Given the description of an element on the screen output the (x, y) to click on. 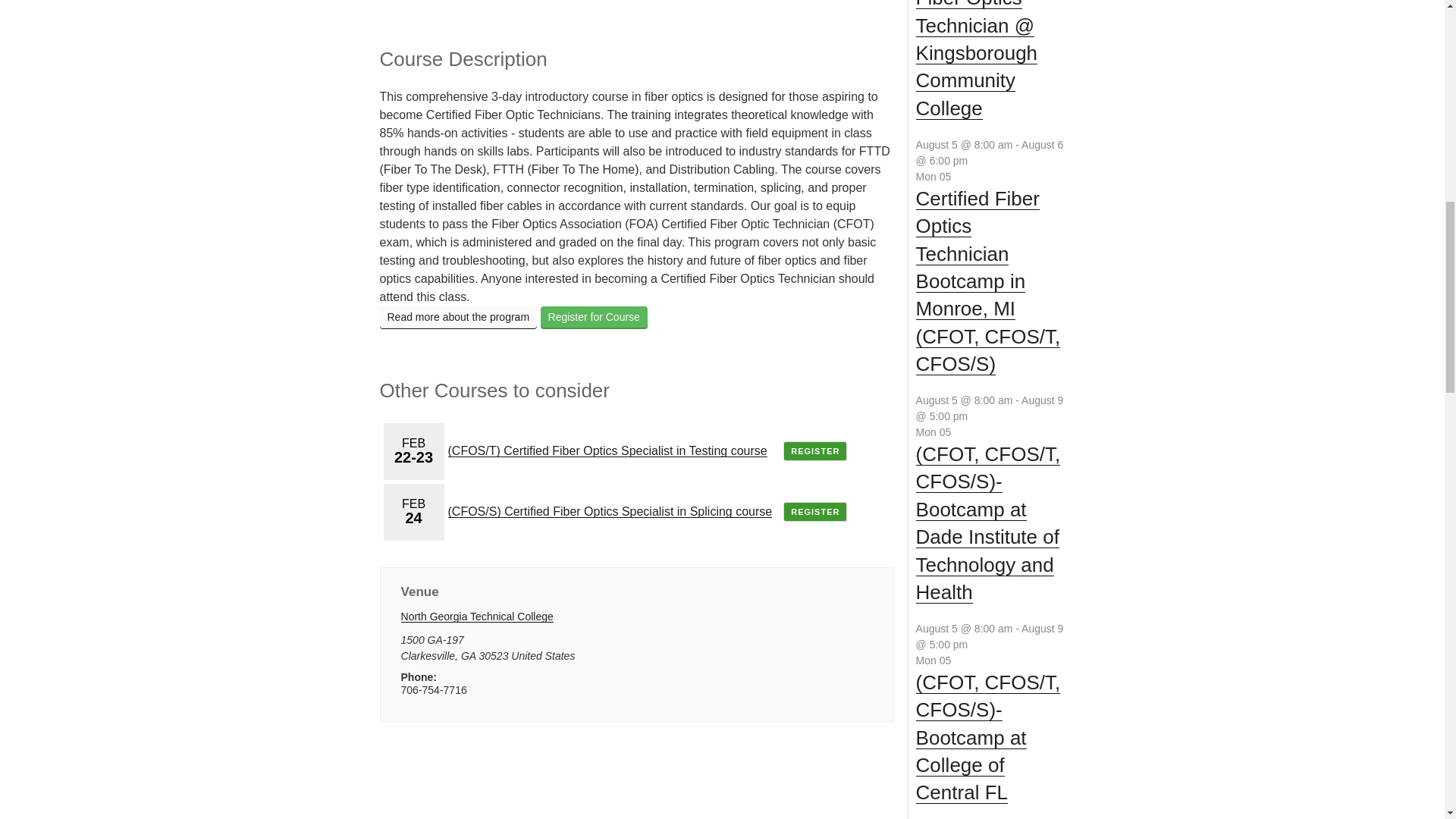
REGISTER (815, 451)
Register for Course (593, 317)
Read more about the program (457, 317)
North Georgia Technical College (477, 615)
Georgia (468, 654)
REGISTER (815, 511)
